Given the description of an element on the screen output the (x, y) to click on. 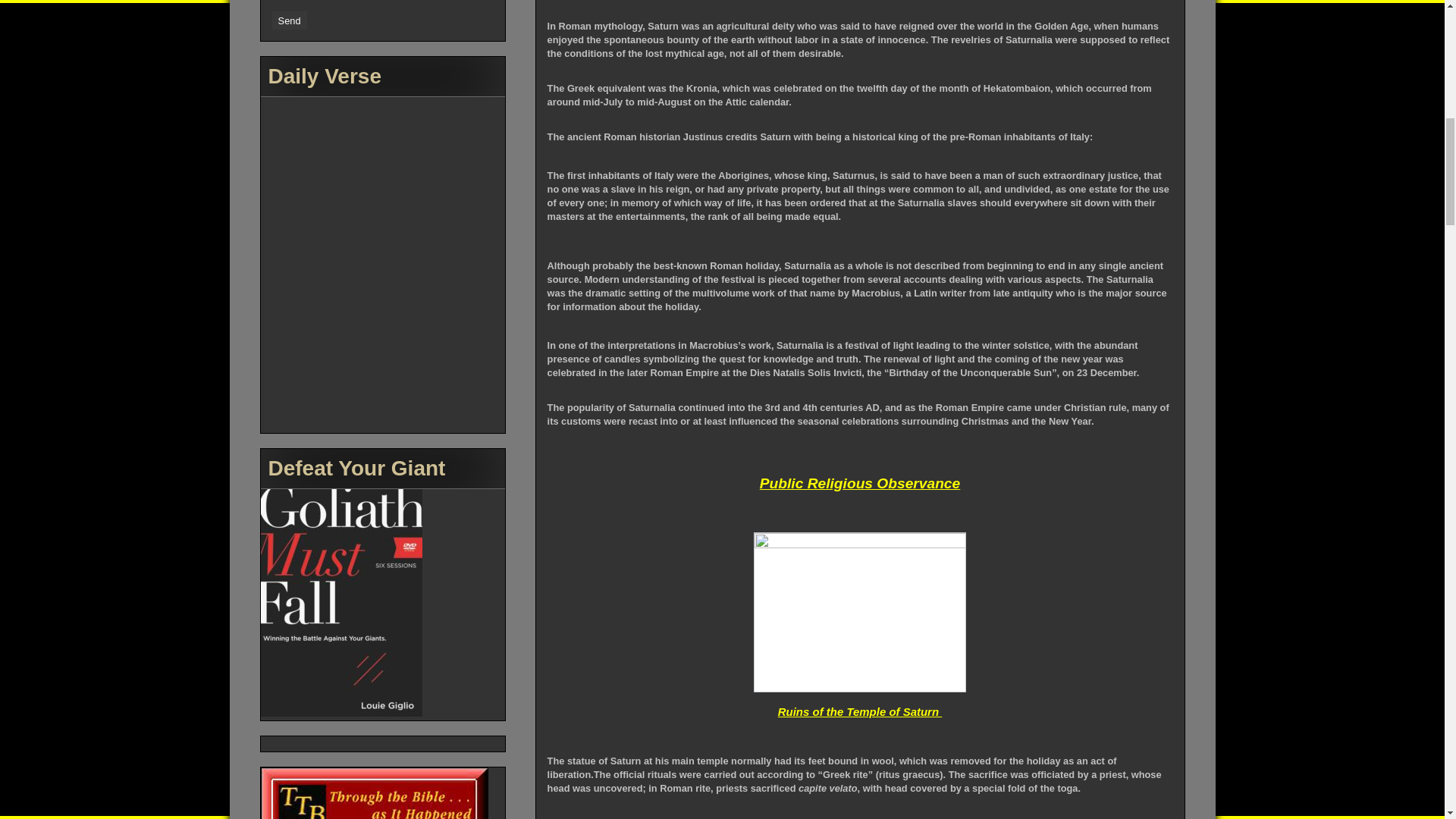
Send (289, 20)
